Given the description of an element on the screen output the (x, y) to click on. 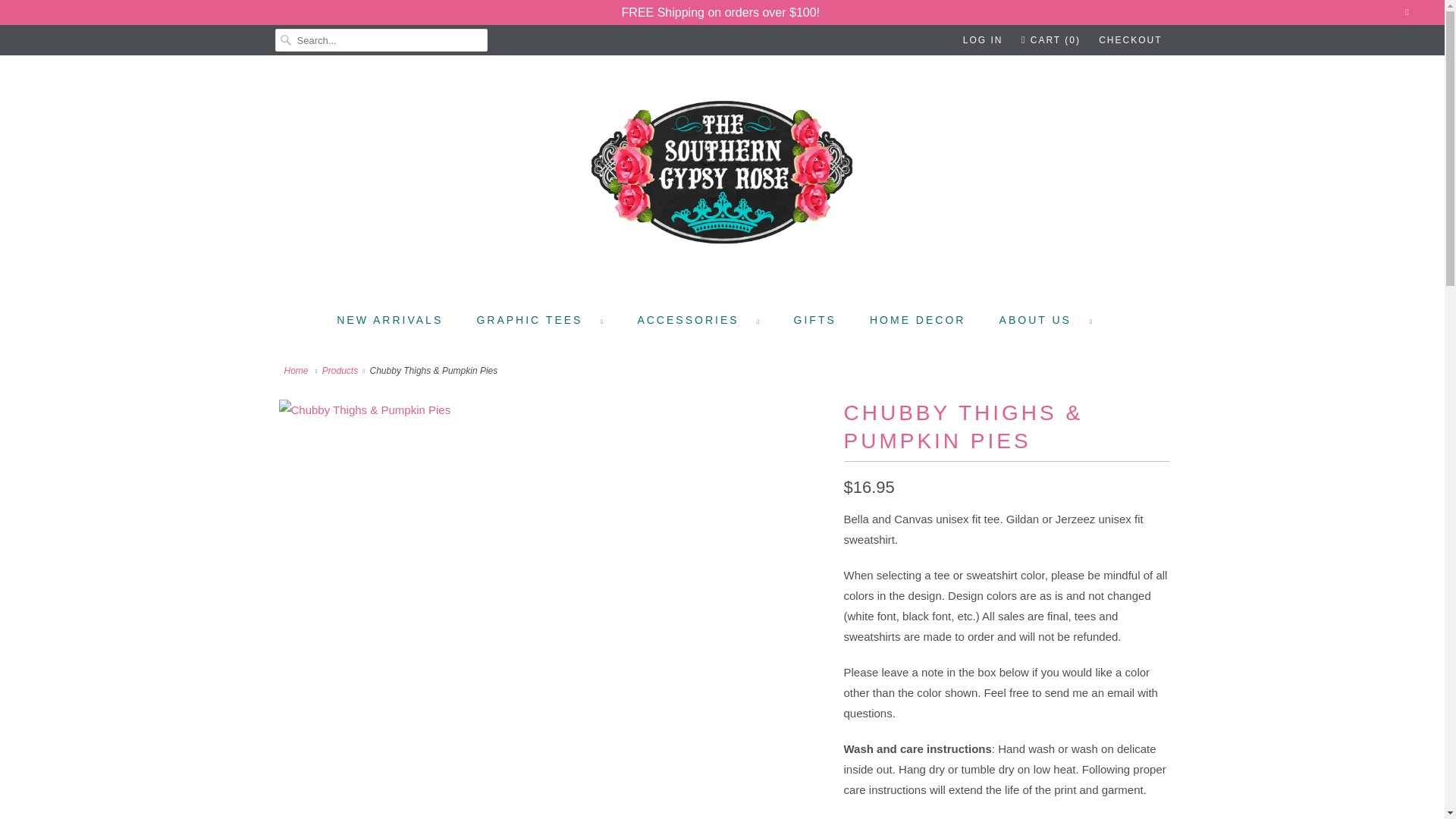
Products (339, 370)
CHECKOUT (1130, 39)
GRAPHIC TEES  (540, 320)
ACCESSORIES  (698, 320)
NEW ARRIVALS (389, 320)
LOG IN (982, 39)
The Southern Gypsy Rose  (296, 370)
